Given the description of an element on the screen output the (x, y) to click on. 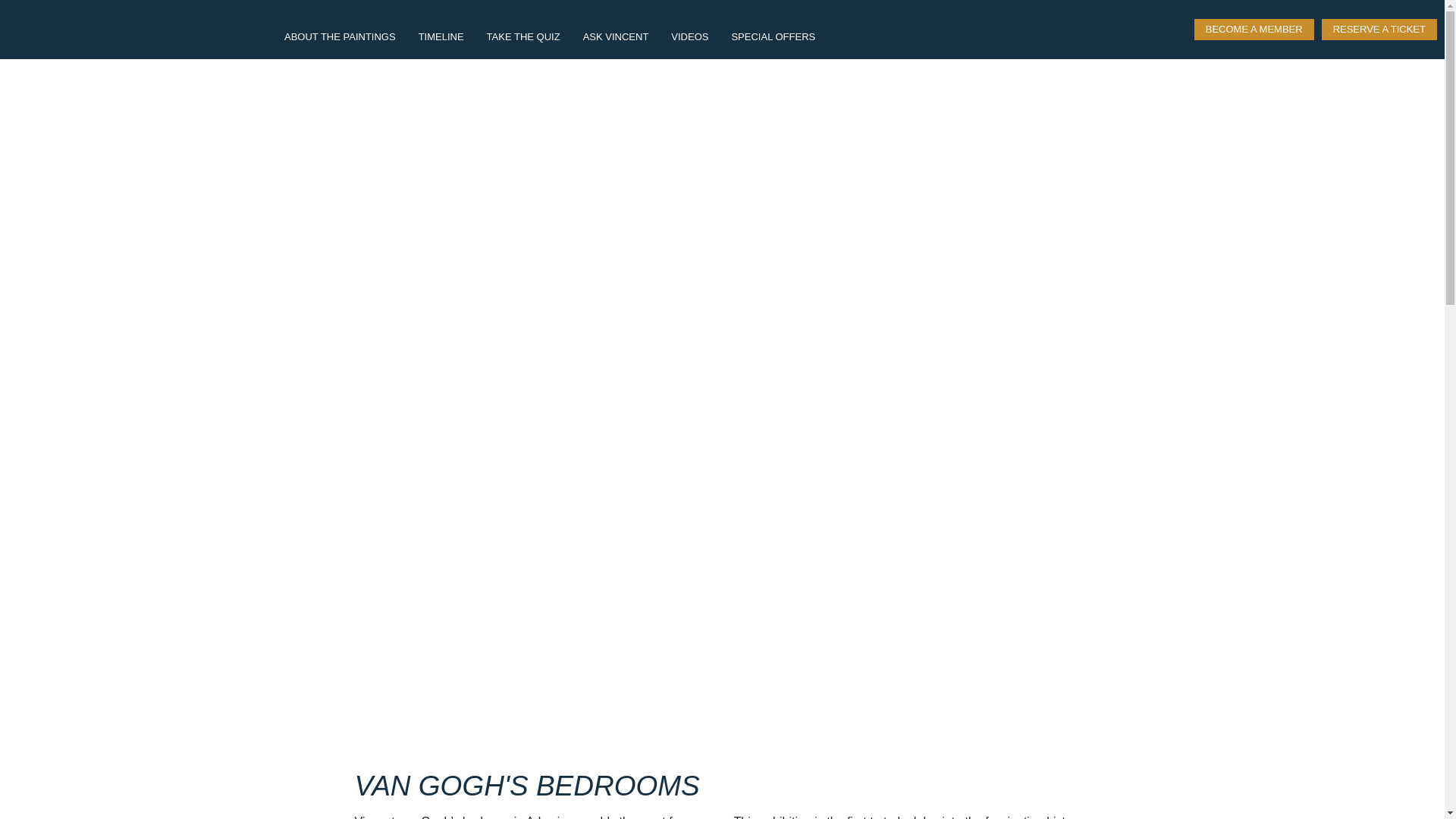
RESERVE A TICKET (1379, 28)
TIMELINE (441, 36)
VAN GOGH'S BEDROOMS, THROUGH MAY 10 (140, 28)
ASK VINCENT (616, 36)
VIDEOS (689, 36)
SPECIAL OFFERS (773, 36)
ABOUT THE PAINTINGS (340, 36)
TAKE THE QUIZ (524, 36)
BECOME A MEMBER (1253, 28)
